Given the description of an element on the screen output the (x, y) to click on. 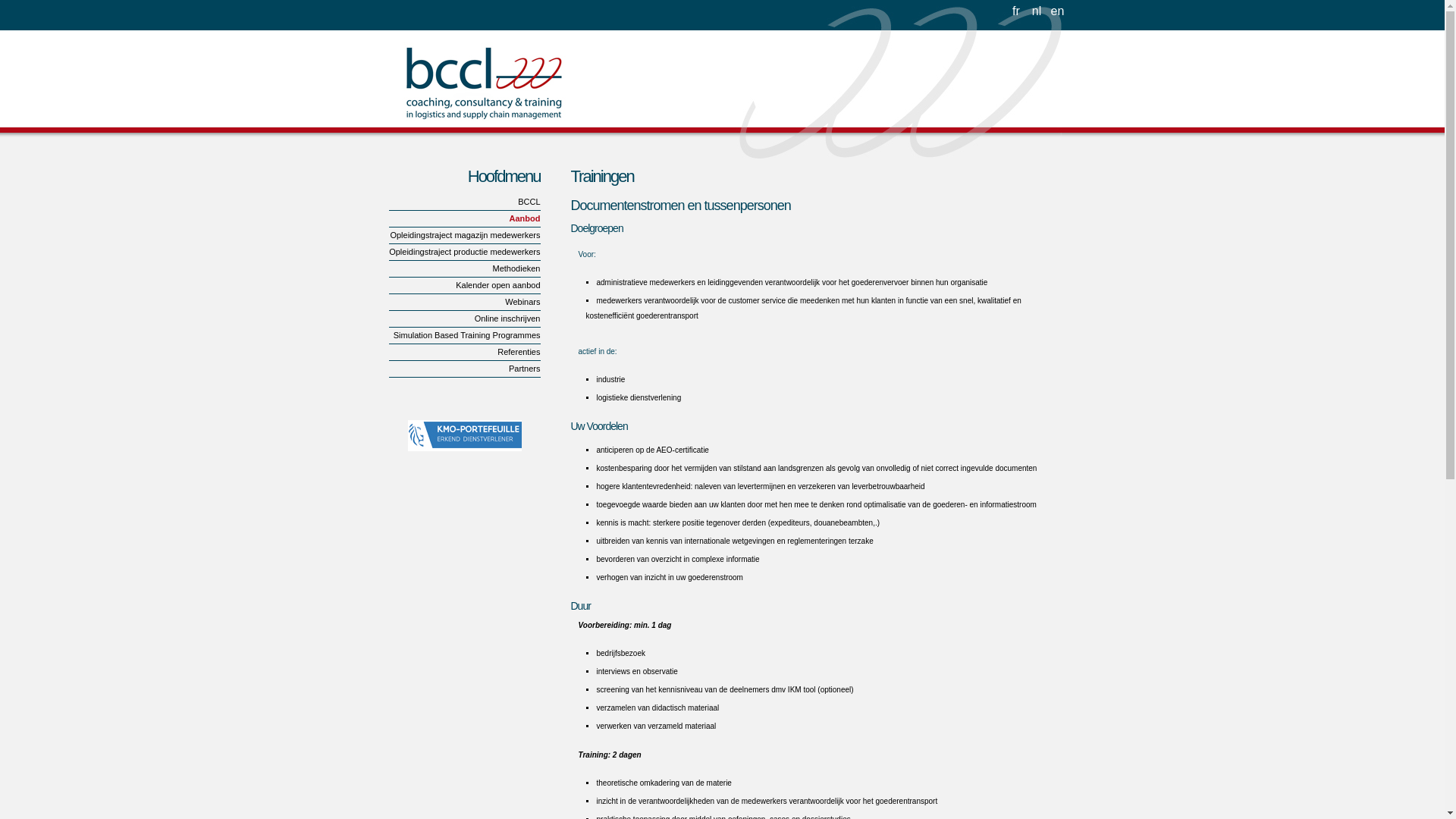
Partners Element type: text (463, 368)
Referenties Element type: text (463, 352)
Methodieken Element type: text (463, 268)
Online inschrijven Element type: text (463, 318)
Kalender open aanbod Element type: text (463, 285)
fr Element type: text (1016, 9)
Simulation Based Training Programmes Element type: text (463, 335)
Opleidingstraject productie medewerkers Element type: text (463, 252)
en Element type: text (1057, 9)
Opleidingstraject magazijn medewerkers Element type: text (463, 235)
Webinars Element type: text (463, 302)
BCCL Element type: text (463, 202)
Aanbod Element type: text (463, 218)
nl Element type: text (1035, 9)
